Given the description of an element on the screen output the (x, y) to click on. 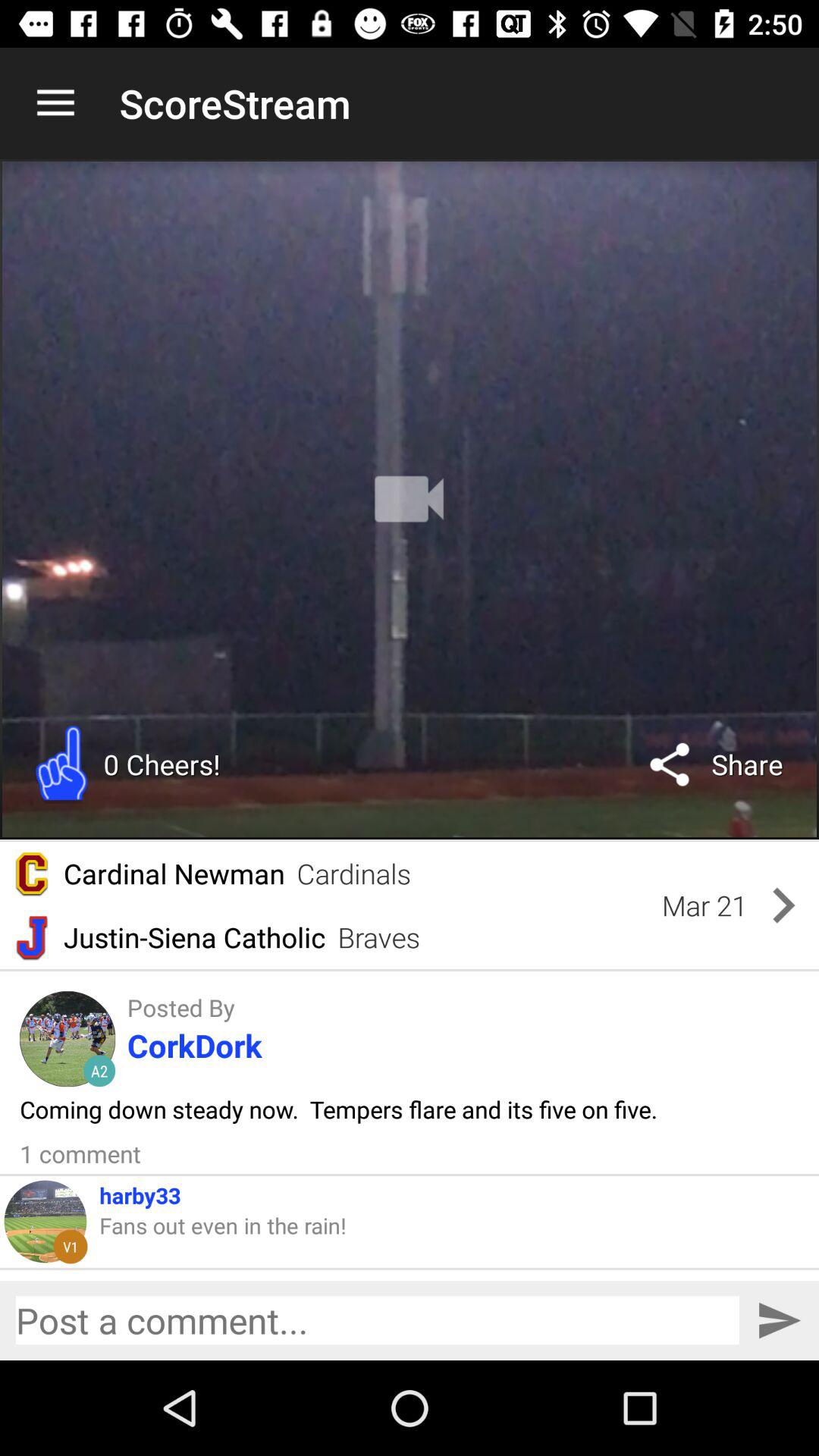
turn off the item below the harby33 item (222, 1225)
